Given the description of an element on the screen output the (x, y) to click on. 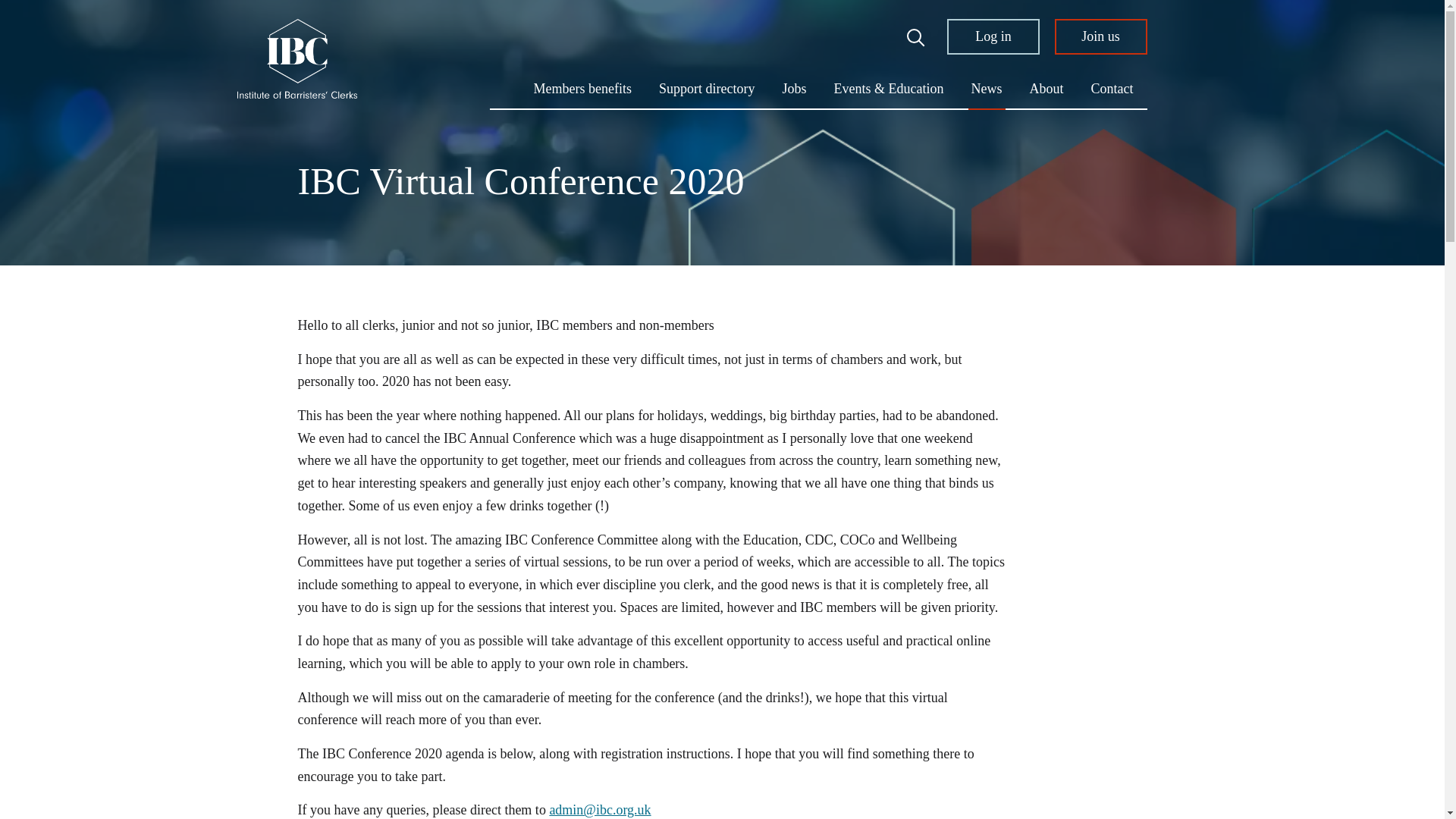
Members benefits (582, 88)
Jobs (993, 36)
Support directory (794, 88)
Contact (706, 88)
News (1100, 36)
Show or hide search form (1112, 88)
About (985, 88)
